Given the description of an element on the screen output the (x, y) to click on. 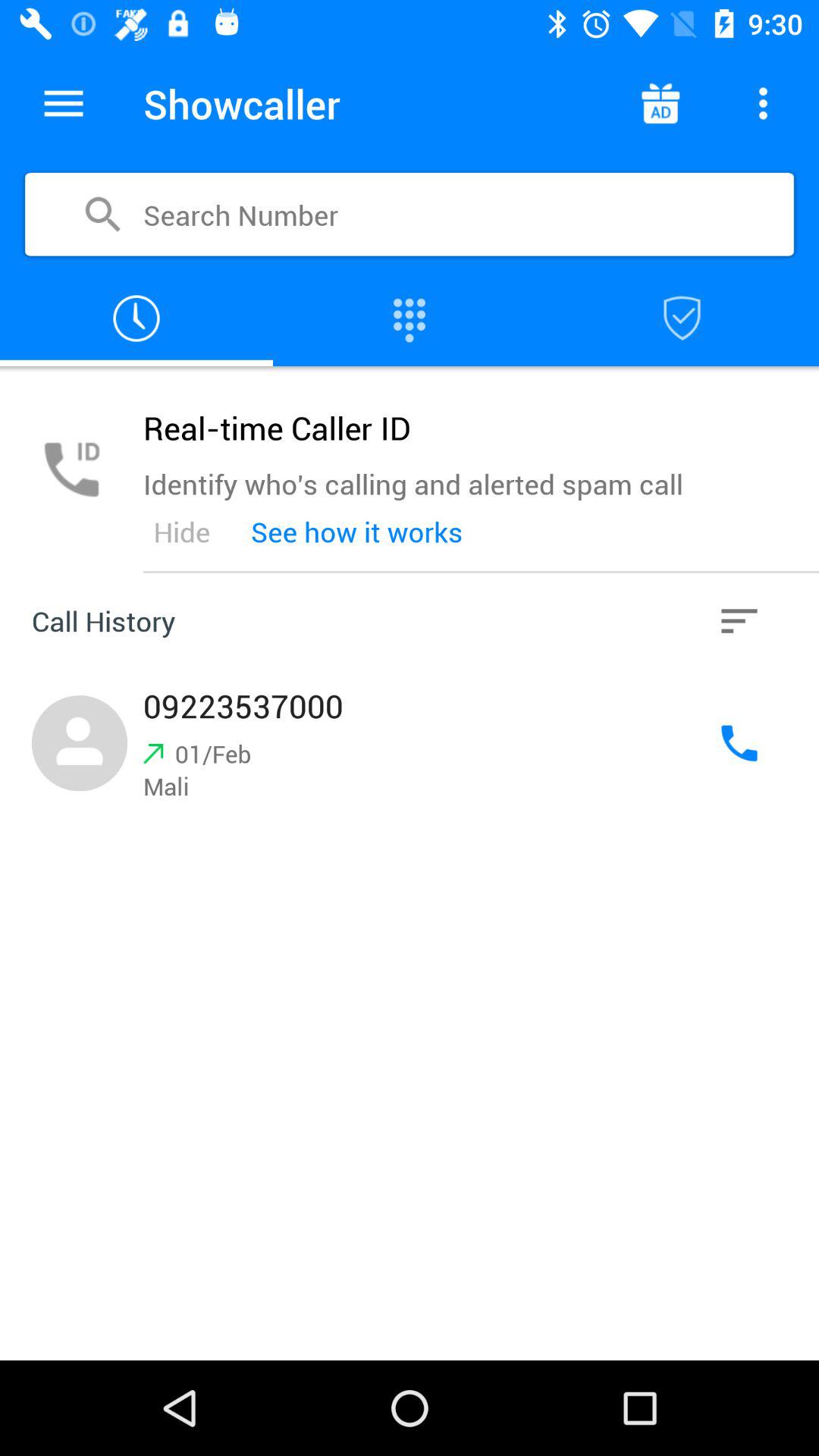
advertisement (659, 103)
